Given the description of an element on the screen output the (x, y) to click on. 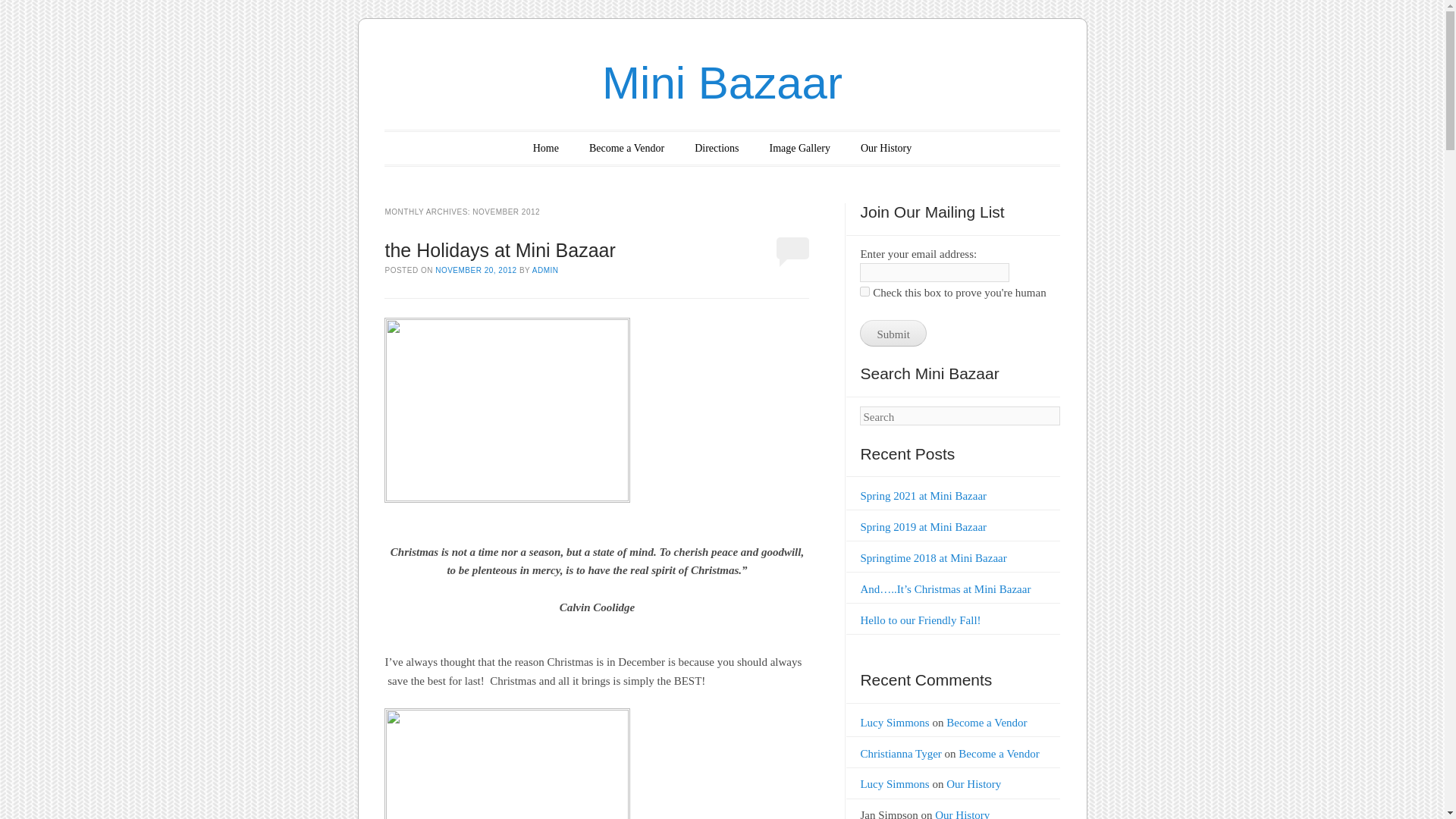
Become a Vendor (998, 753)
NOVEMBER 20, 2012 (475, 270)
View all posts by admin (545, 270)
Become a Vendor (625, 147)
Christianna Tyger (900, 753)
Our History (973, 784)
Become a Vendor (986, 722)
Spring 2019 at Mini Bazaar (923, 526)
Search (32, 13)
Our History (962, 814)
Hello to our Friendly Fall! (919, 620)
the Holidays at Mini Bazaar (499, 250)
Mini Bazaar (722, 82)
Skip to content (433, 147)
Skip to content (433, 147)
